Given the description of an element on the screen output the (x, y) to click on. 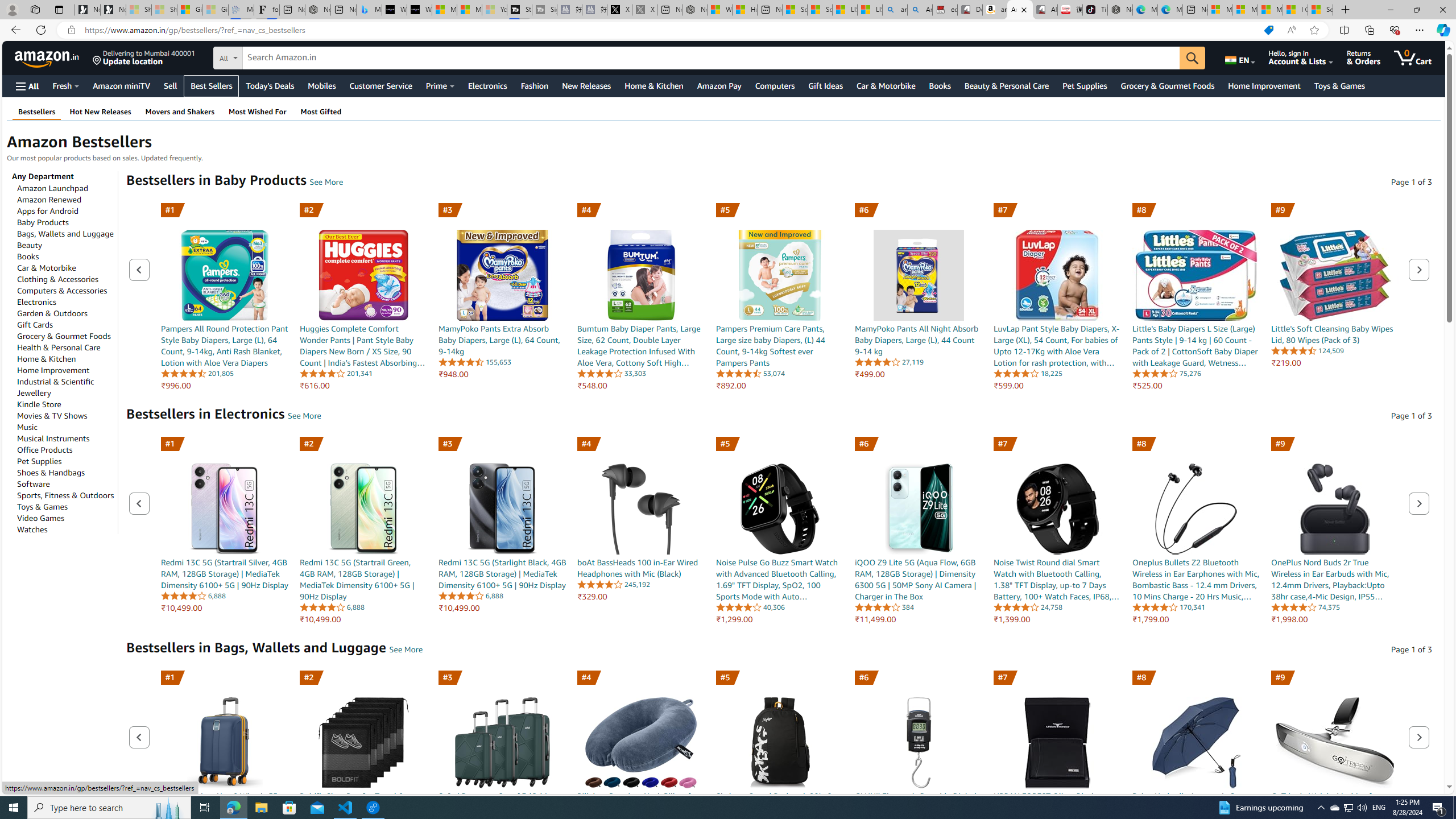
Car & Motorbike (46, 267)
amazon.in/dp/B0CX59H5W7/?tag=gsmcom05-21 (993, 9)
Pet Supplies (39, 461)
Next page (1419, 736)
What's the best AI voice generator? - voice.ai (418, 9)
Sports, Fitness & Outdoors (66, 495)
Computers (775, 85)
